Given the description of an element on the screen output the (x, y) to click on. 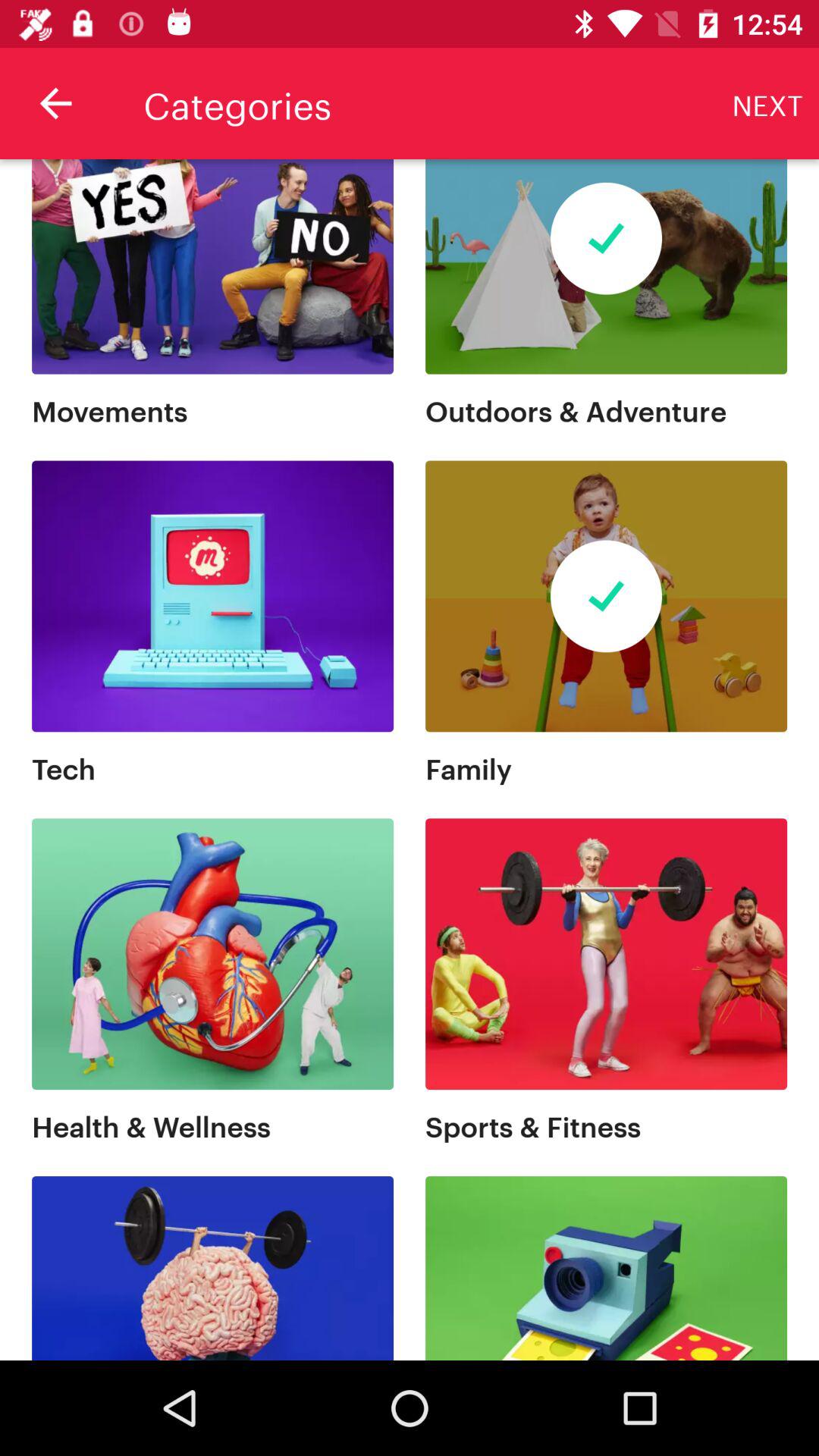
open the next item (767, 103)
